Given the description of an element on the screen output the (x, y) to click on. 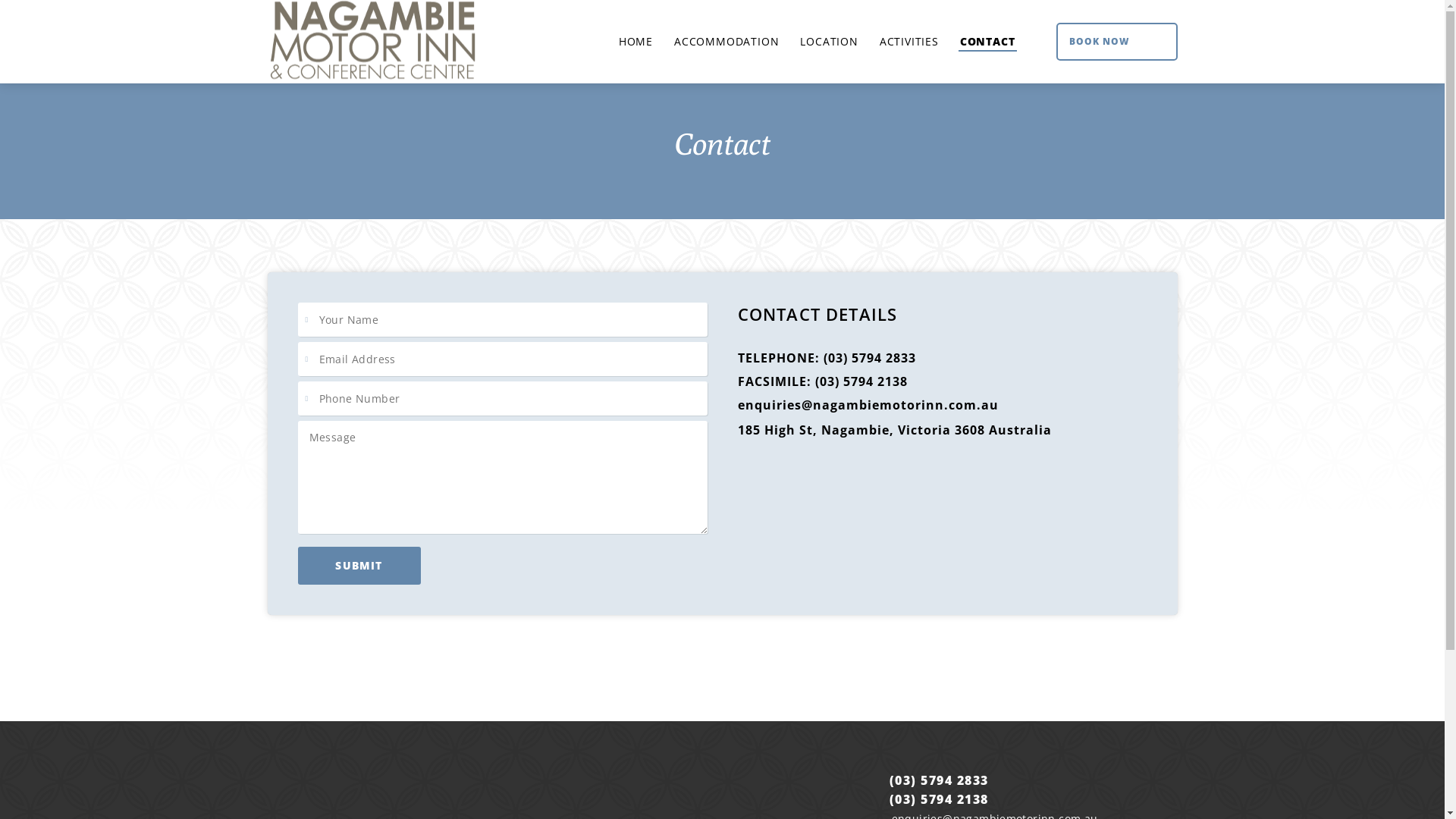
enquiries@nagambiemotorinn.com.au Element type: text (867, 404)
185 High St, Nagambie, Victoria 3608 Australia Element type: text (894, 429)
HOME Element type: text (635, 41)
SUBMIT Element type: text (358, 565)
ACTIVITIES Element type: text (909, 41)
CONTACT Element type: text (987, 41)
ACCOMMODATION Element type: text (726, 41)
LOCATION Element type: text (828, 41)
BOOK NOW Element type: text (1115, 41)
